Given the description of an element on the screen output the (x, y) to click on. 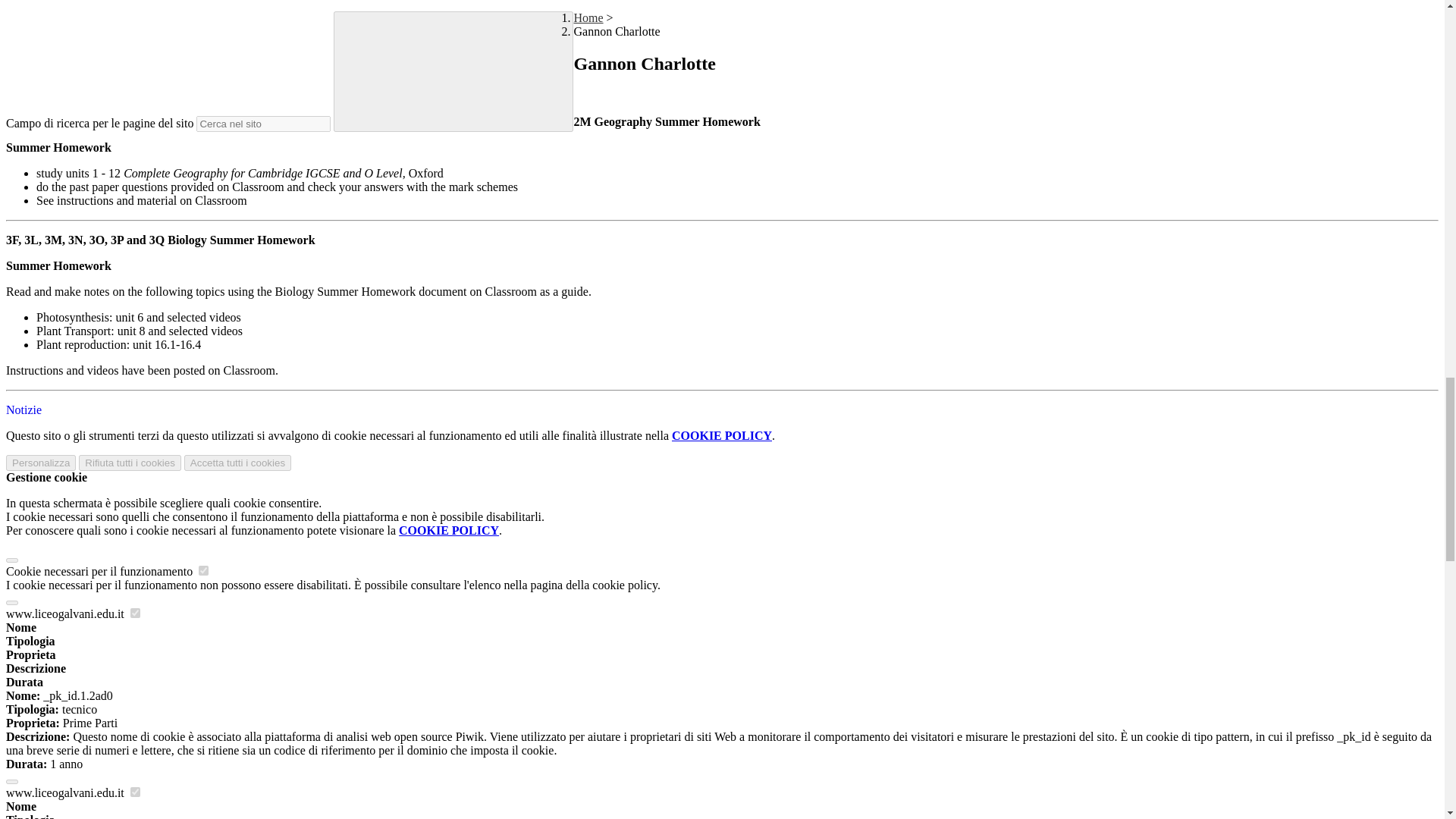
on (203, 570)
on (135, 791)
on (135, 613)
